Given the description of an element on the screen output the (x, y) to click on. 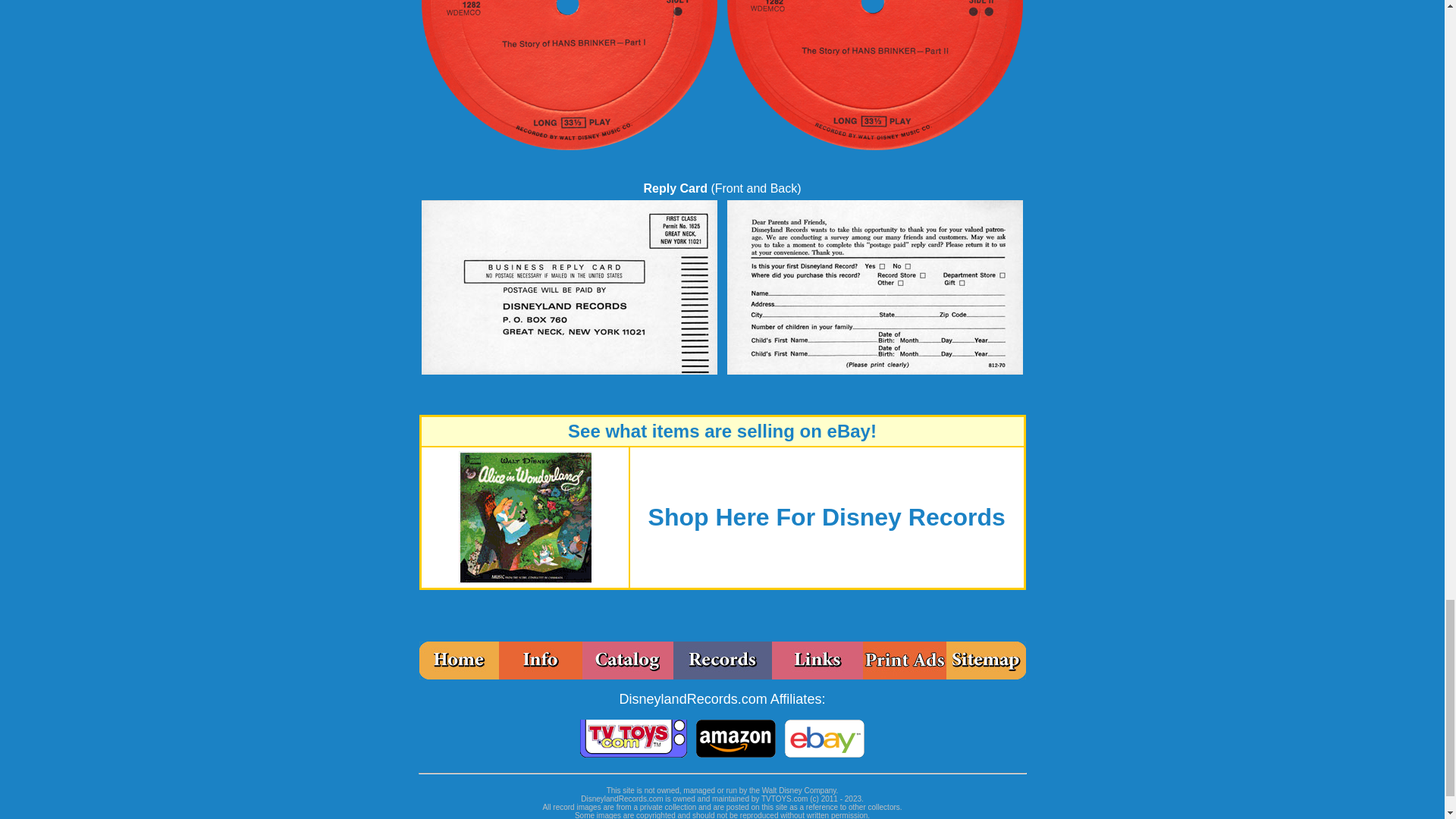
Shop Here For Disney Records (826, 521)
